Given the description of an element on the screen output the (x, y) to click on. 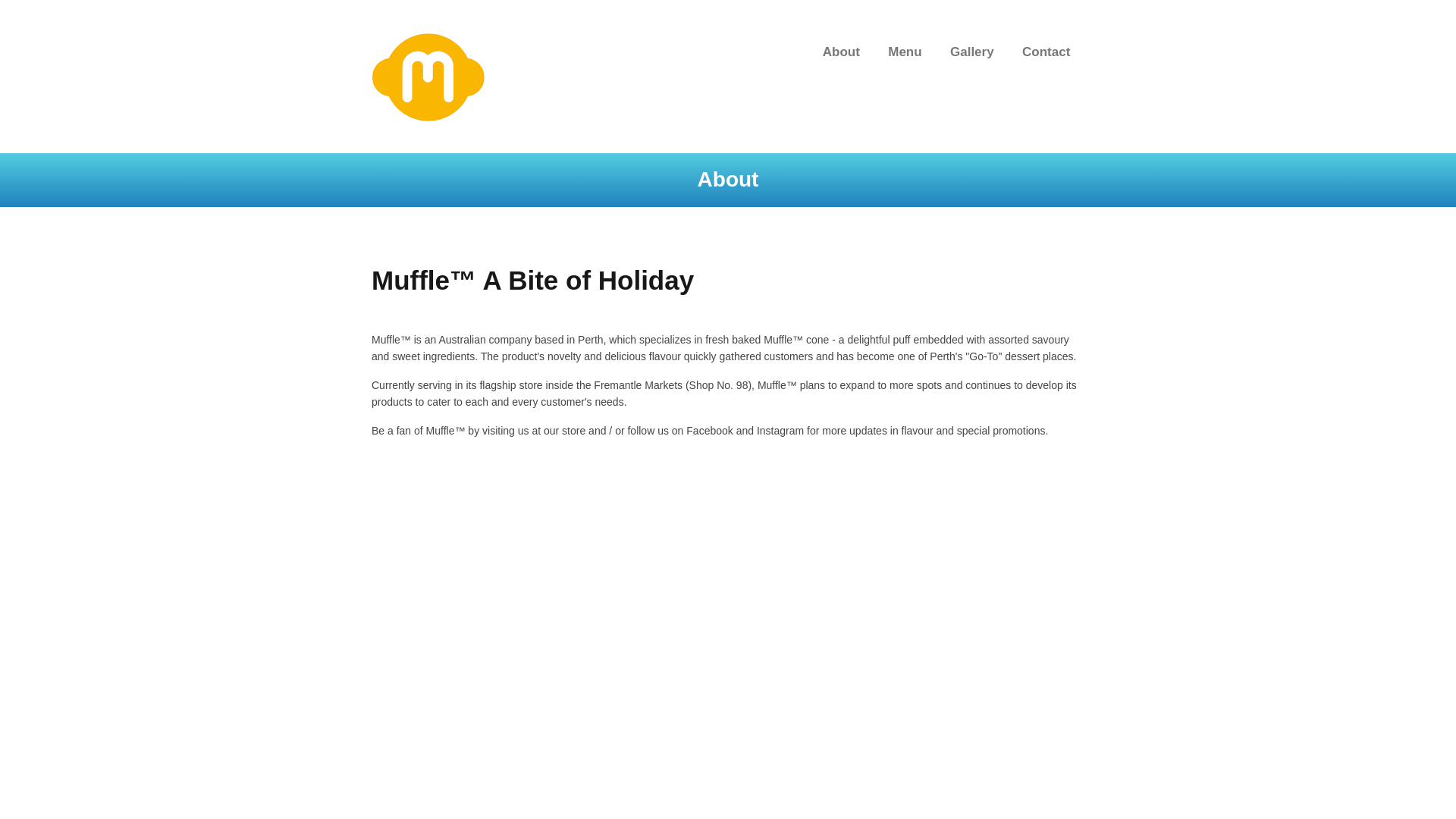
Gallery Element type: text (971, 52)
Menu Element type: text (905, 52)
Contact Element type: text (1045, 52)
About Element type: text (840, 52)
MUFFLE Element type: hover (428, 74)
